Given the description of an element on the screen output the (x, y) to click on. 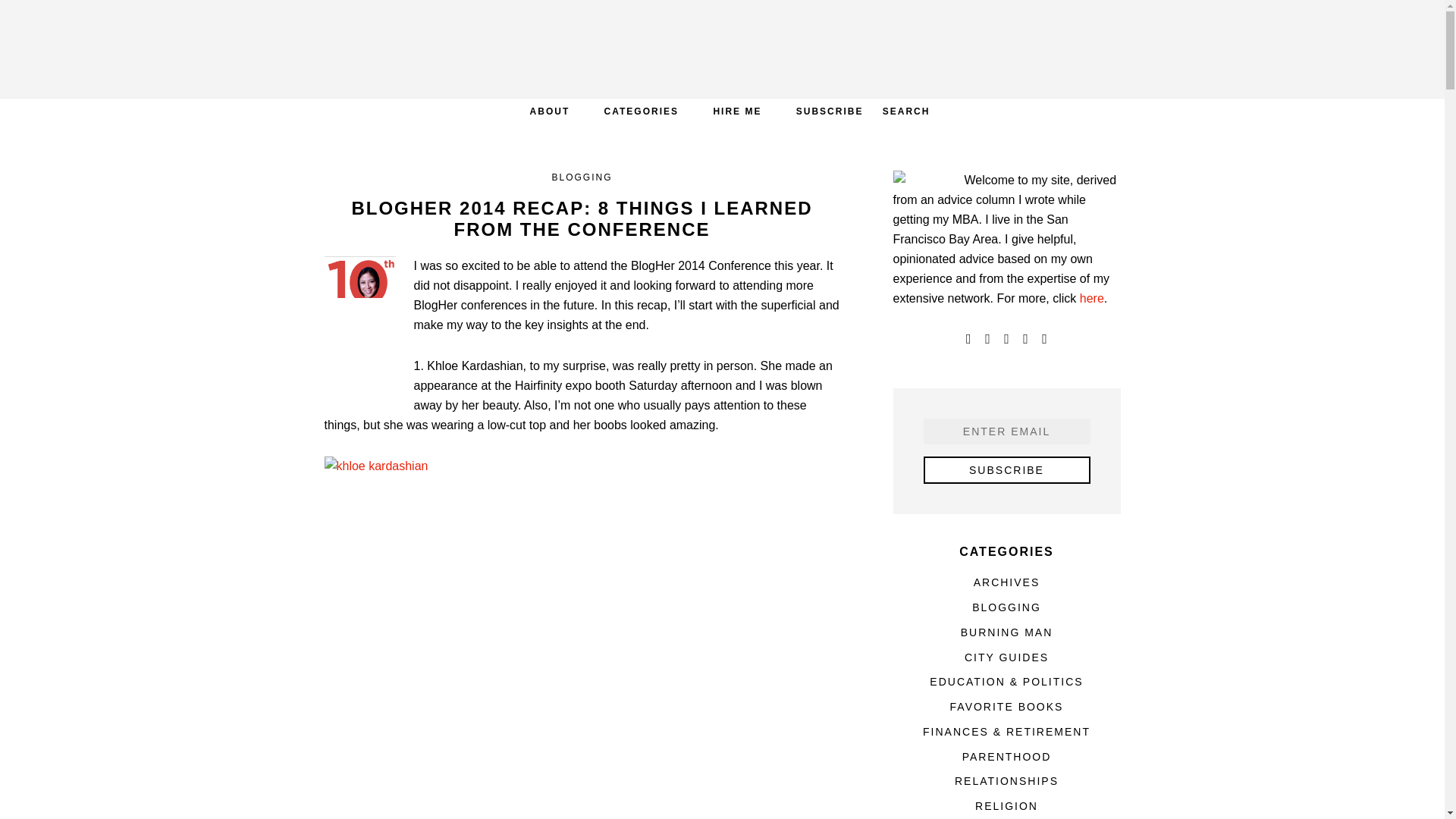
CATEGORIES (641, 111)
BLOGGING (581, 176)
Subscribe (1006, 470)
SUBSCRIBE (829, 111)
Catherine Gacad (721, 48)
ABOUT (550, 111)
HIRE ME (736, 111)
